Given the description of an element on the screen output the (x, y) to click on. 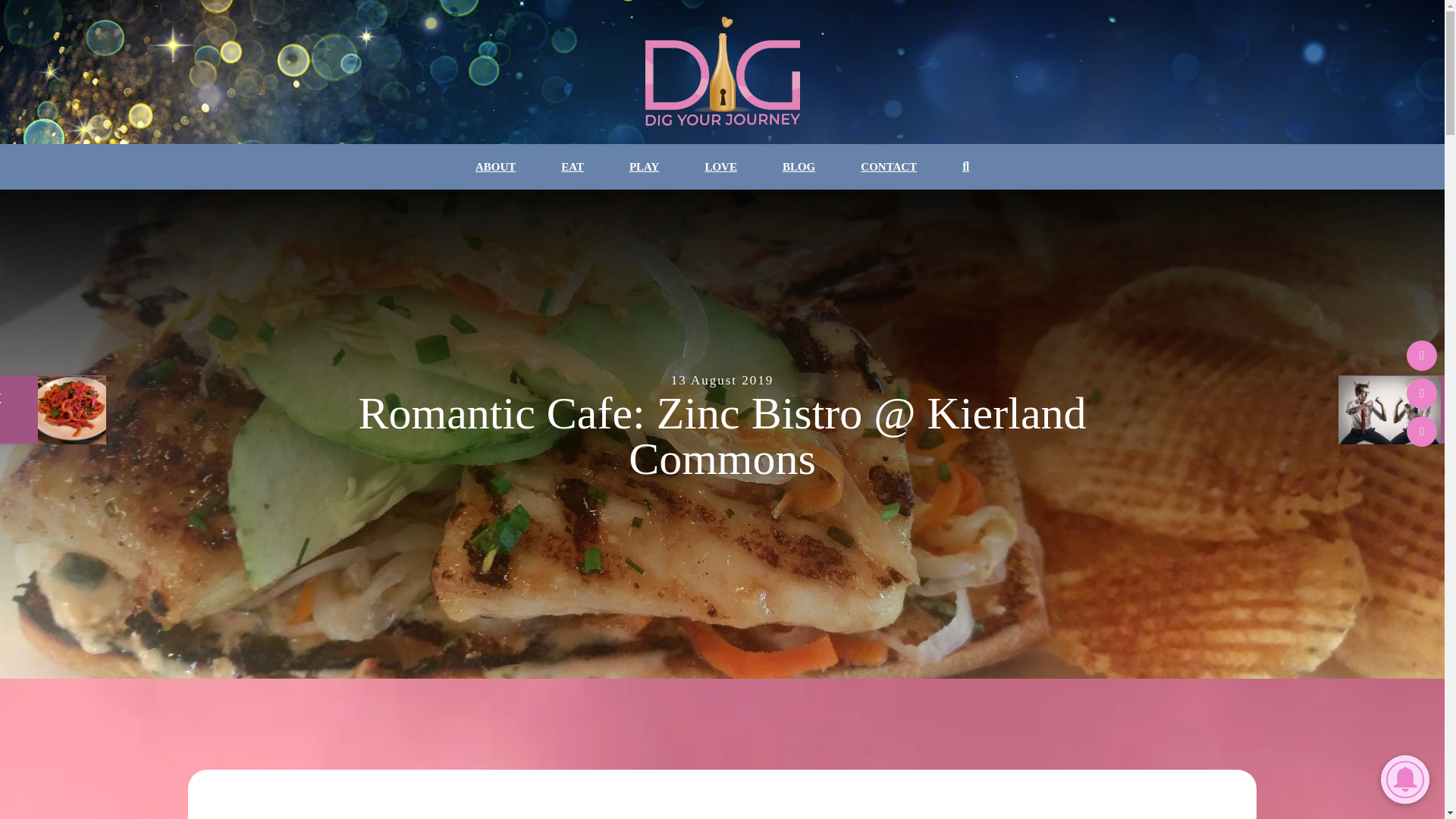
Hush Public House: The Best New Restaurant In Scottsdale (53, 409)
CONTACT (888, 166)
